Given the description of an element on the screen output the (x, y) to click on. 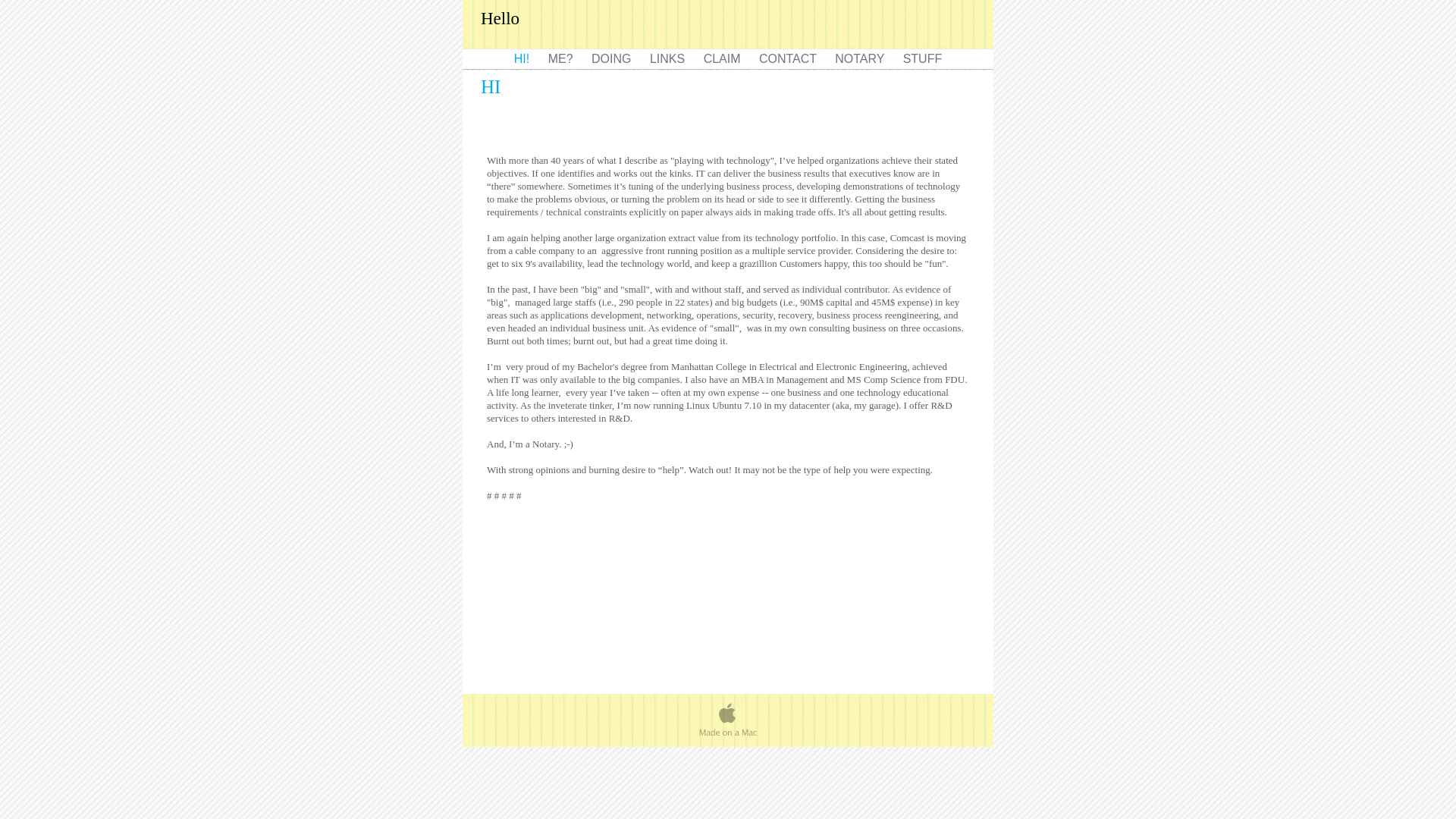
CLAIM Element type: text (723, 58)
NOTARY Element type: text (860, 58)
DOING Element type: text (612, 58)
HI! Element type: text (523, 58)
STUFF Element type: text (922, 58)
LINKS Element type: text (668, 58)
ME? Element type: text (562, 58)
CONTACT Element type: text (789, 58)
